Given the description of an element on the screen output the (x, y) to click on. 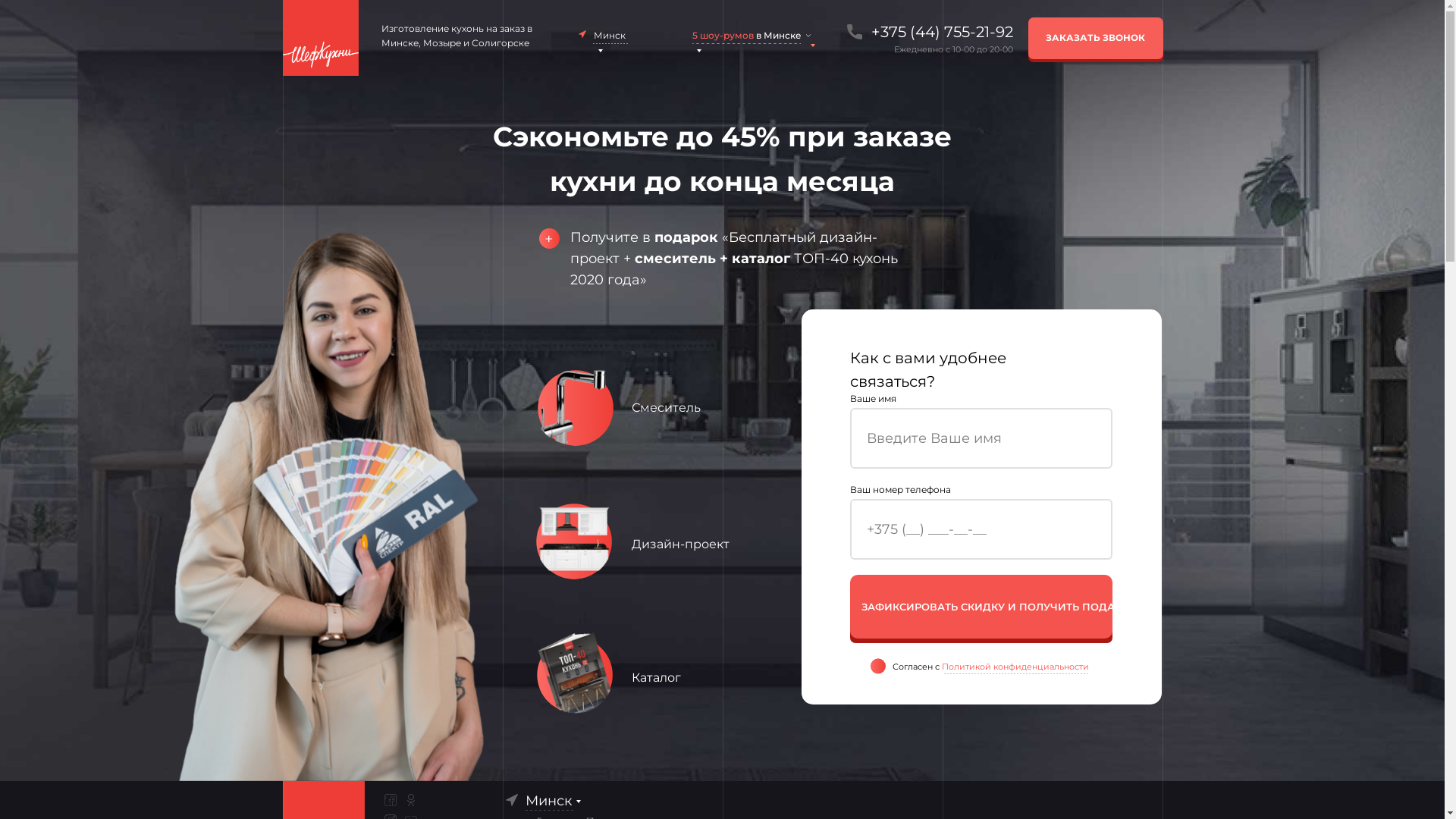
+375 (44) 755-21-92 Element type: text (937, 31)
